Given the description of an element on the screen output the (x, y) to click on. 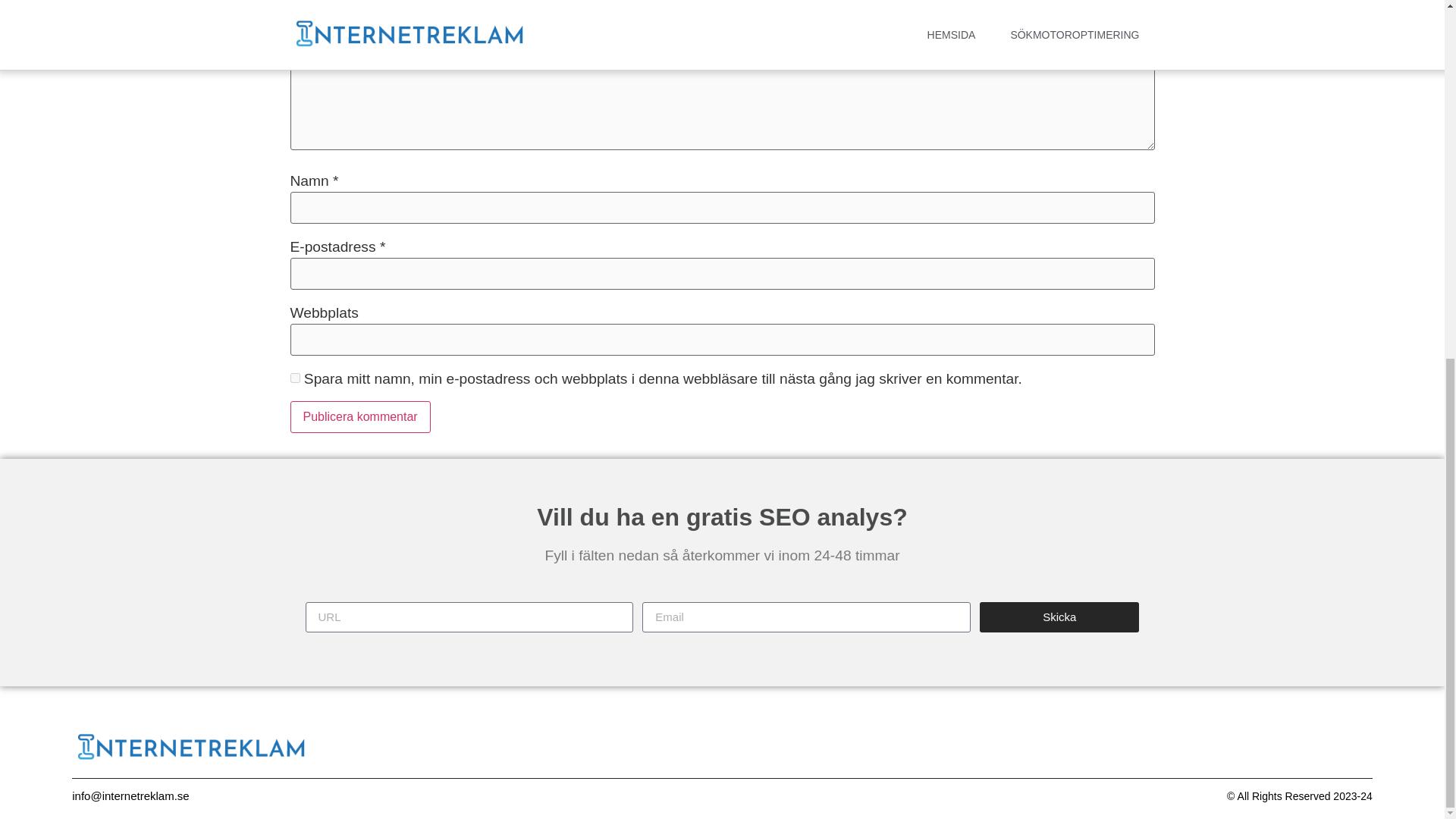
Skicka (1058, 616)
yes (294, 378)
Publicera kommentar (359, 417)
Publicera kommentar (359, 417)
